Given the description of an element on the screen output the (x, y) to click on. 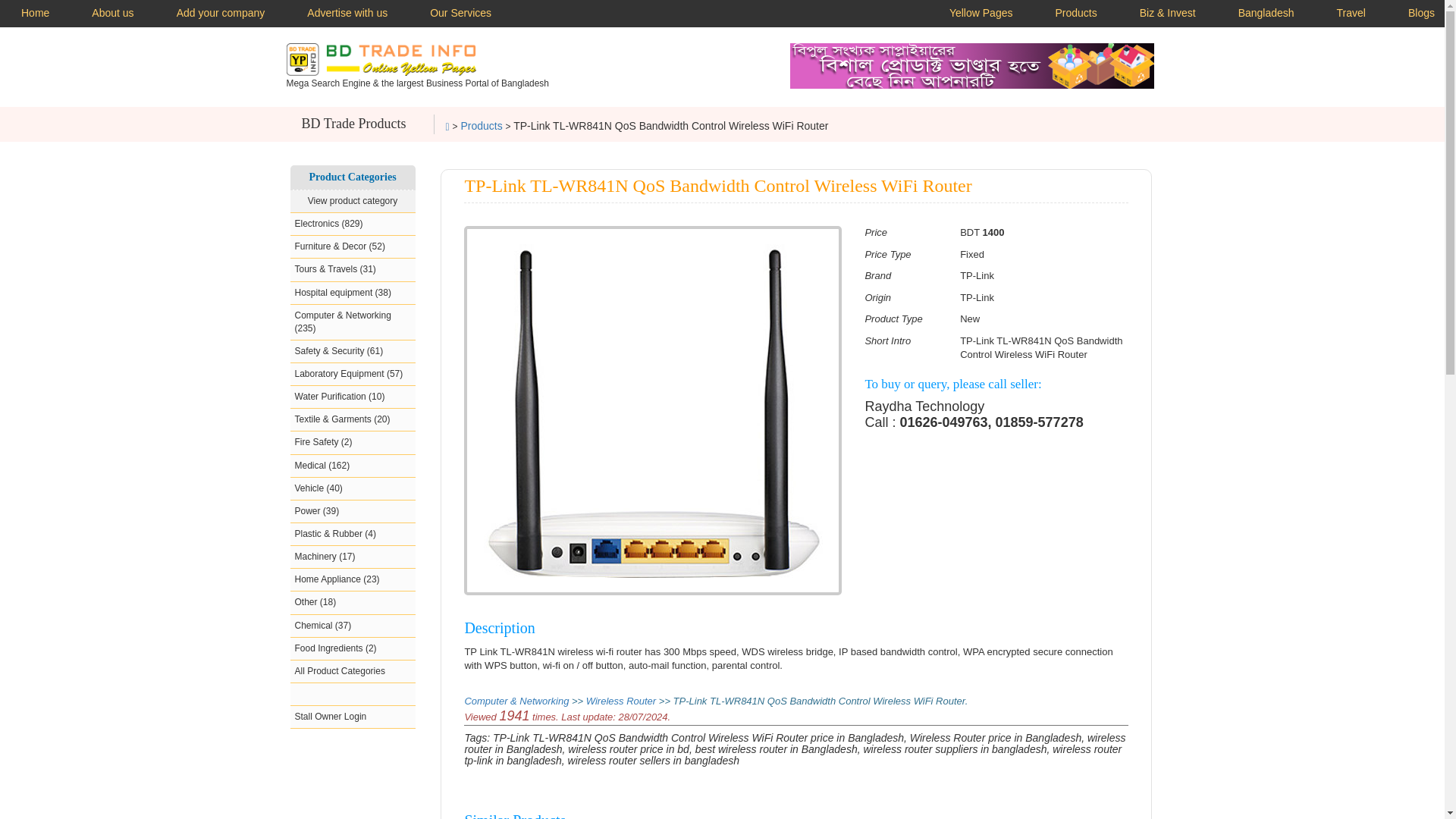
TP-Link TL-WR841N QoS Bandwidth Control Wireless WiFi Router (652, 411)
All Product Categories (351, 671)
View product category (351, 201)
Products (1075, 13)
Our Services (460, 13)
Bangladesh (1266, 13)
Home (34, 13)
Products (481, 125)
About us (111, 13)
Yellow Pages (980, 13)
Travel (1351, 13)
BD Trade Info (381, 59)
Add your company (220, 13)
Advertise with us (347, 13)
